Given the description of an element on the screen output the (x, y) to click on. 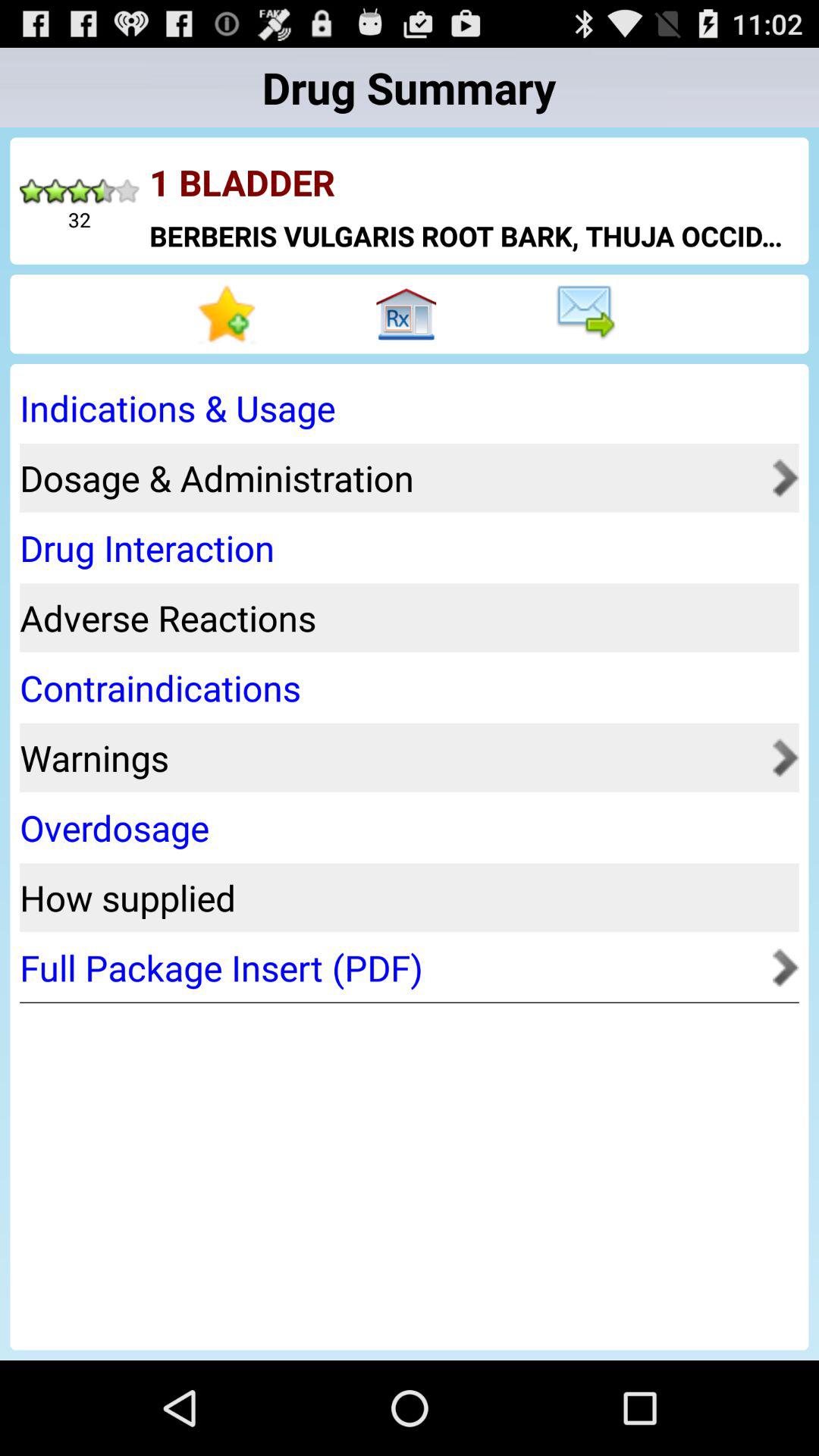
press the warnings app (390, 757)
